Given the description of an element on the screen output the (x, y) to click on. 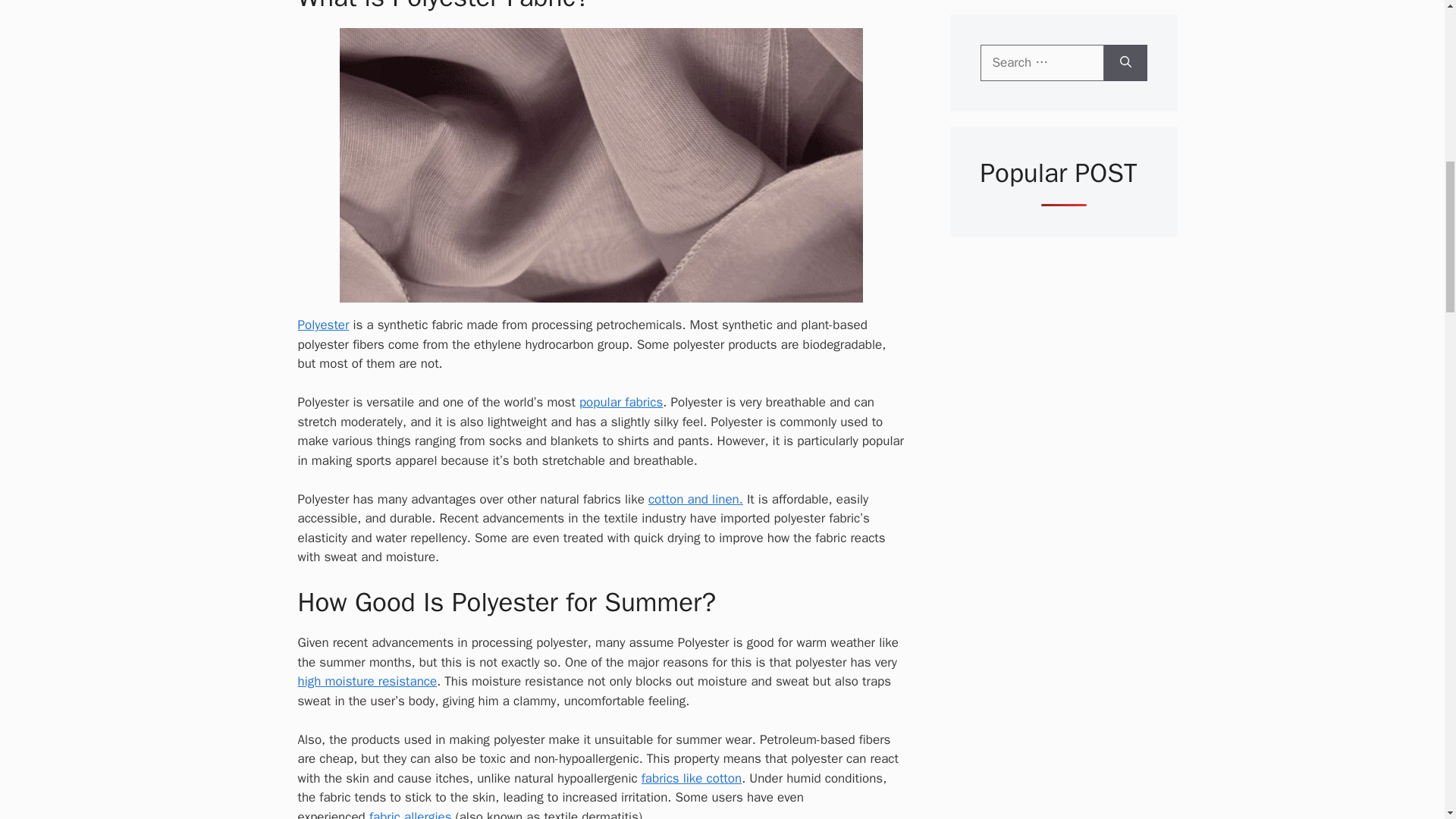
popular fabrics (620, 401)
cotton and linen. (694, 498)
high moisture resistance (366, 681)
fabrics like cotton (691, 778)
Polyester (323, 324)
Search for: (1041, 63)
fabric allergies (410, 814)
